Given the description of an element on the screen output the (x, y) to click on. 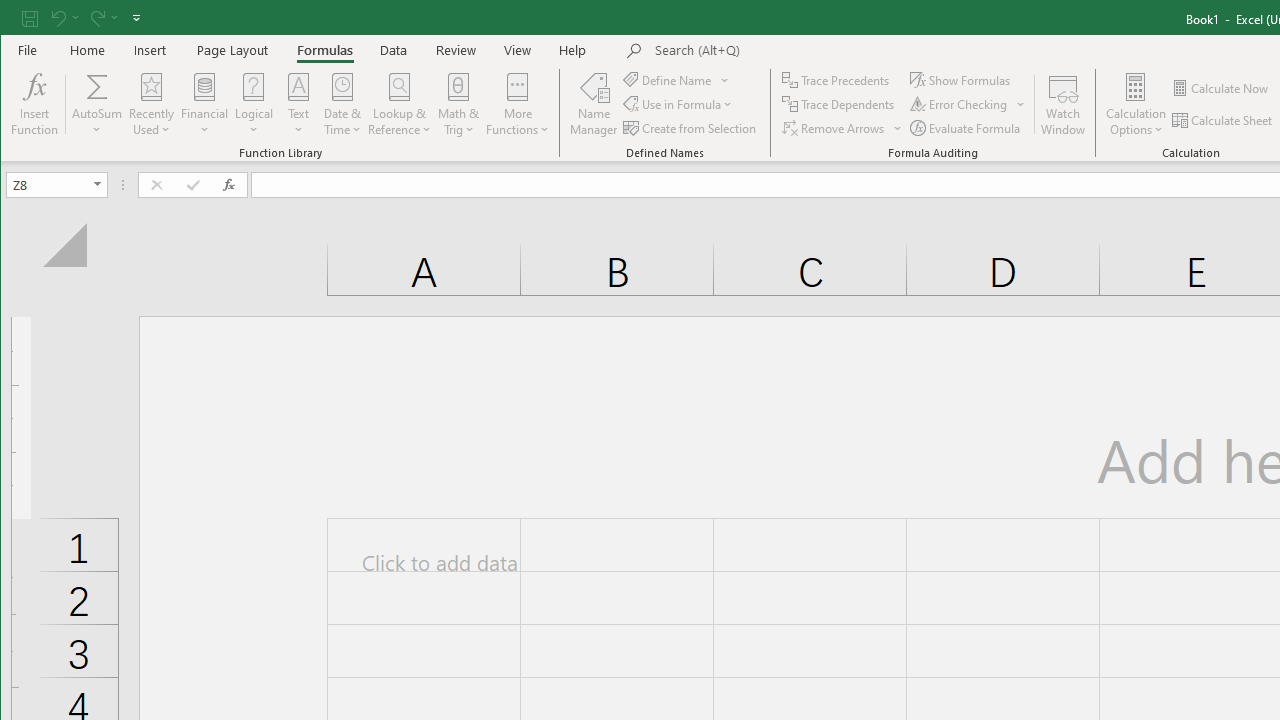
Insert Function... (34, 104)
Lookup & Reference (399, 104)
Calculate Sheet (1223, 119)
Define Name... (668, 80)
